Given the description of an element on the screen output the (x, y) to click on. 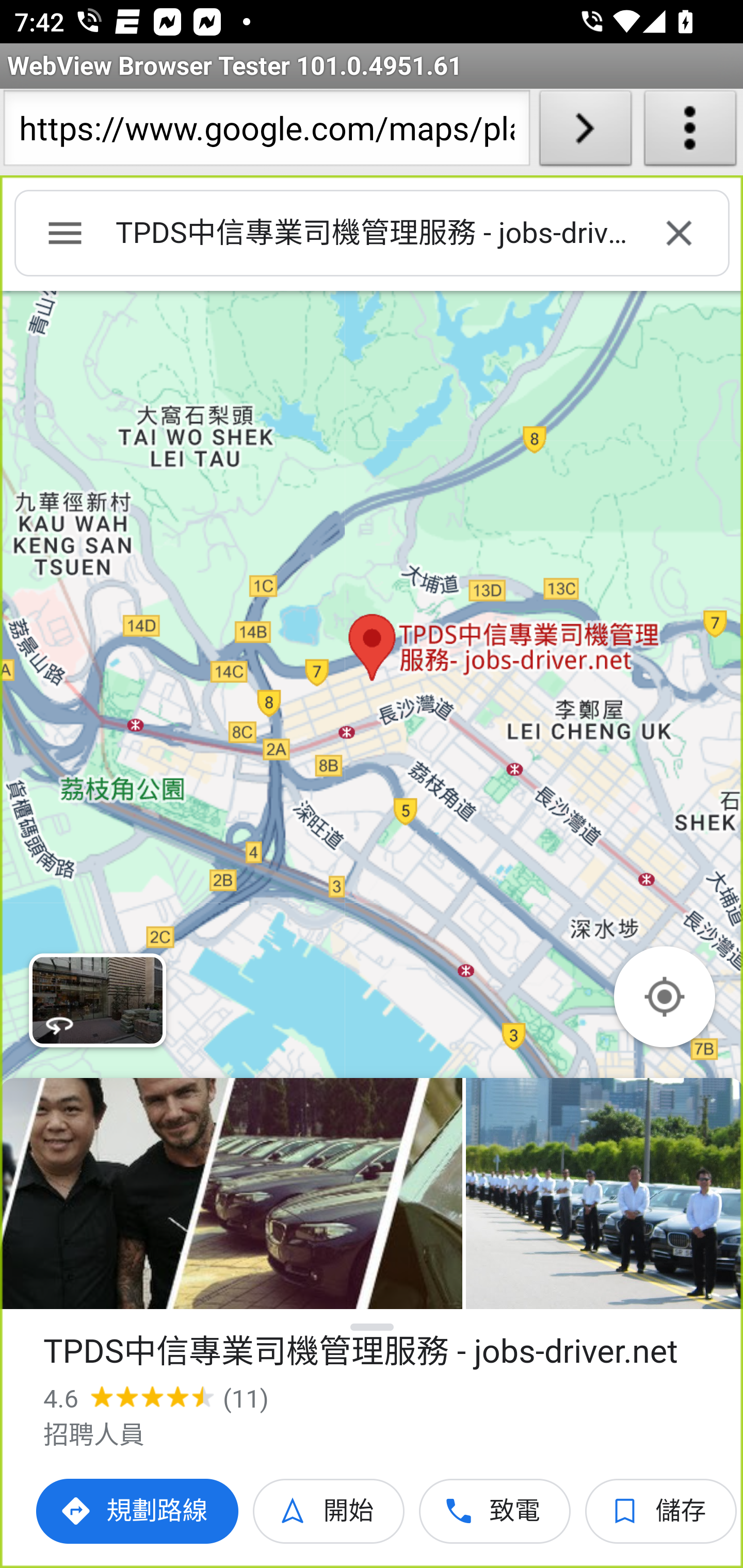
Load URL (585, 132)
About WebView (690, 132)
第 1 張相片 (共 8 張) (231, 1193)
第 2 張相片 (共 8 張) (604, 1193)
顯示詳細資料 (372, 1327)
前往TPDS中信專業司機管理服務 - jobs-driver.net的路線 (137, 1511)
開始 (329, 1511)
致電「TPDS中信專業司機管理服務 - jobs-driver.net」  致電 (495, 1511)
將「TPDS中信專業司機管理服務 - jobs-driver.net」儲存至清單中 (661, 1511)
